Given the description of an element on the screen output the (x, y) to click on. 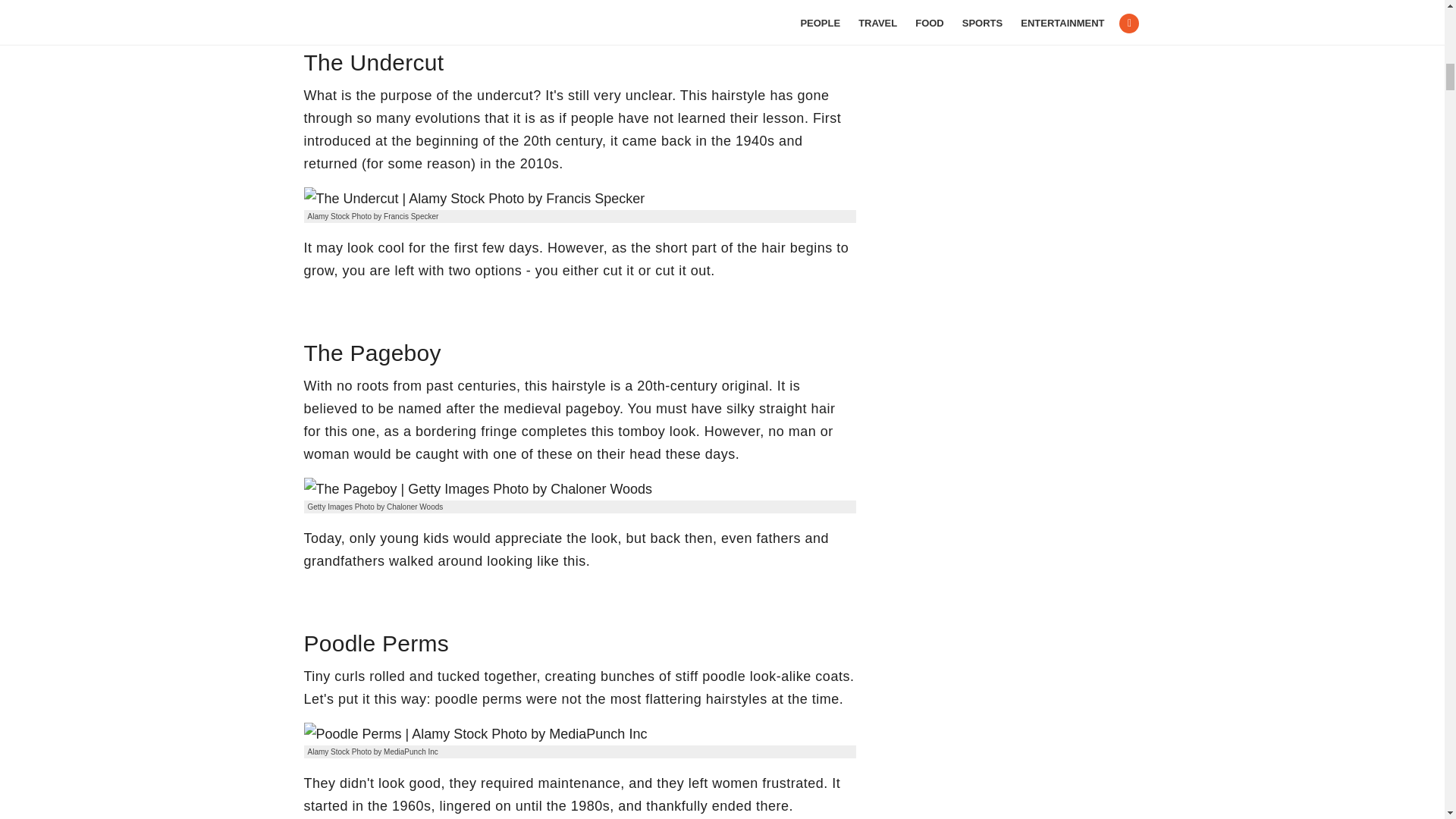
The Undercut (473, 198)
Poodle Perms (474, 733)
The Pageboy (477, 488)
